Given the description of an element on the screen output the (x, y) to click on. 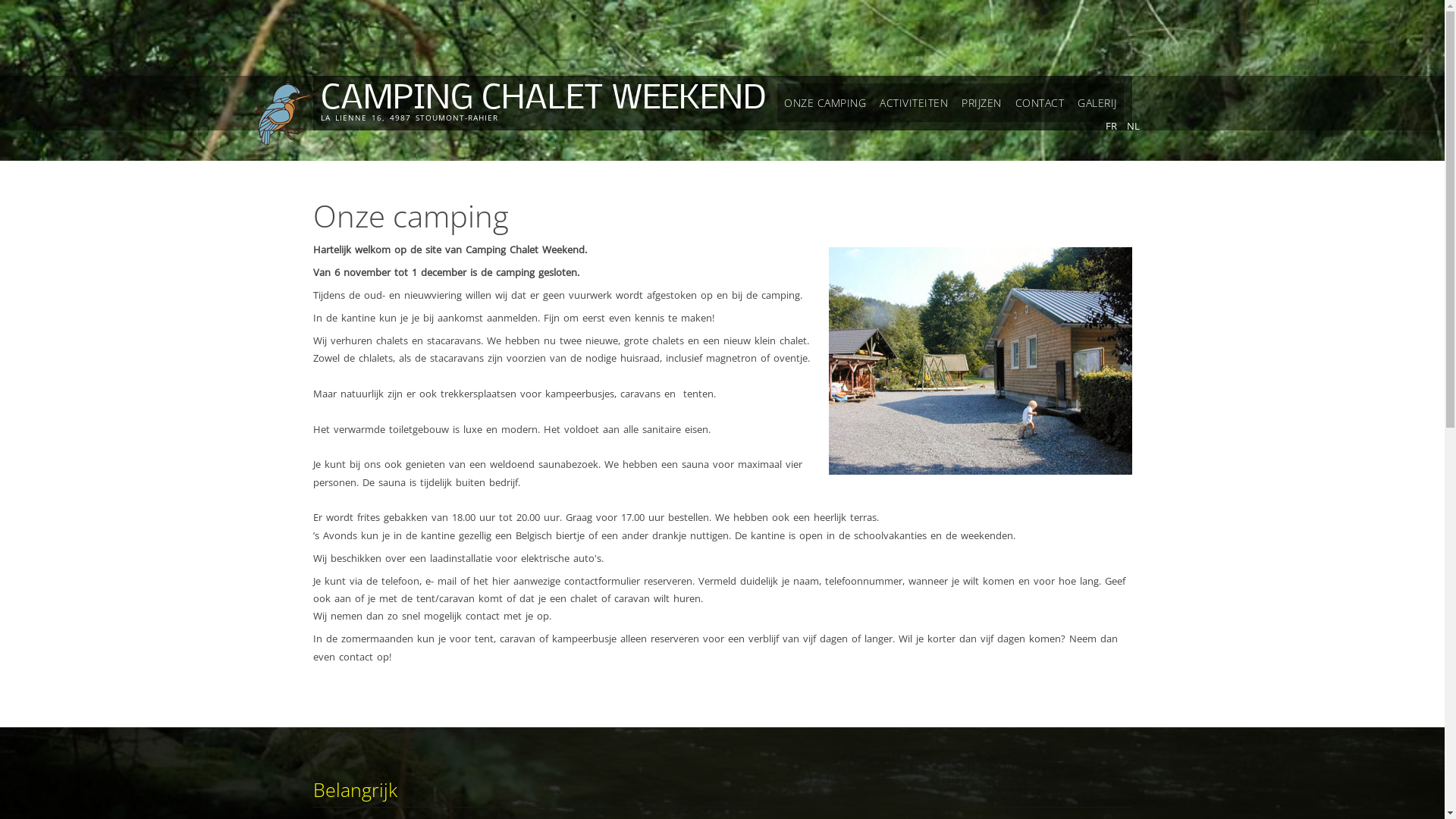
GALERIJ Element type: text (1096, 102)
PRIJZEN Element type: text (981, 102)
FR Element type: text (1111, 125)
NL Element type: text (1132, 125)
CONTACT Element type: text (1039, 102)
CAMPING CHALET WEEKEND Element type: text (542, 99)
ACTIVITEITEN Element type: text (913, 102)
ONZE CAMPING Element type: text (824, 102)
